Given the description of an element on the screen output the (x, y) to click on. 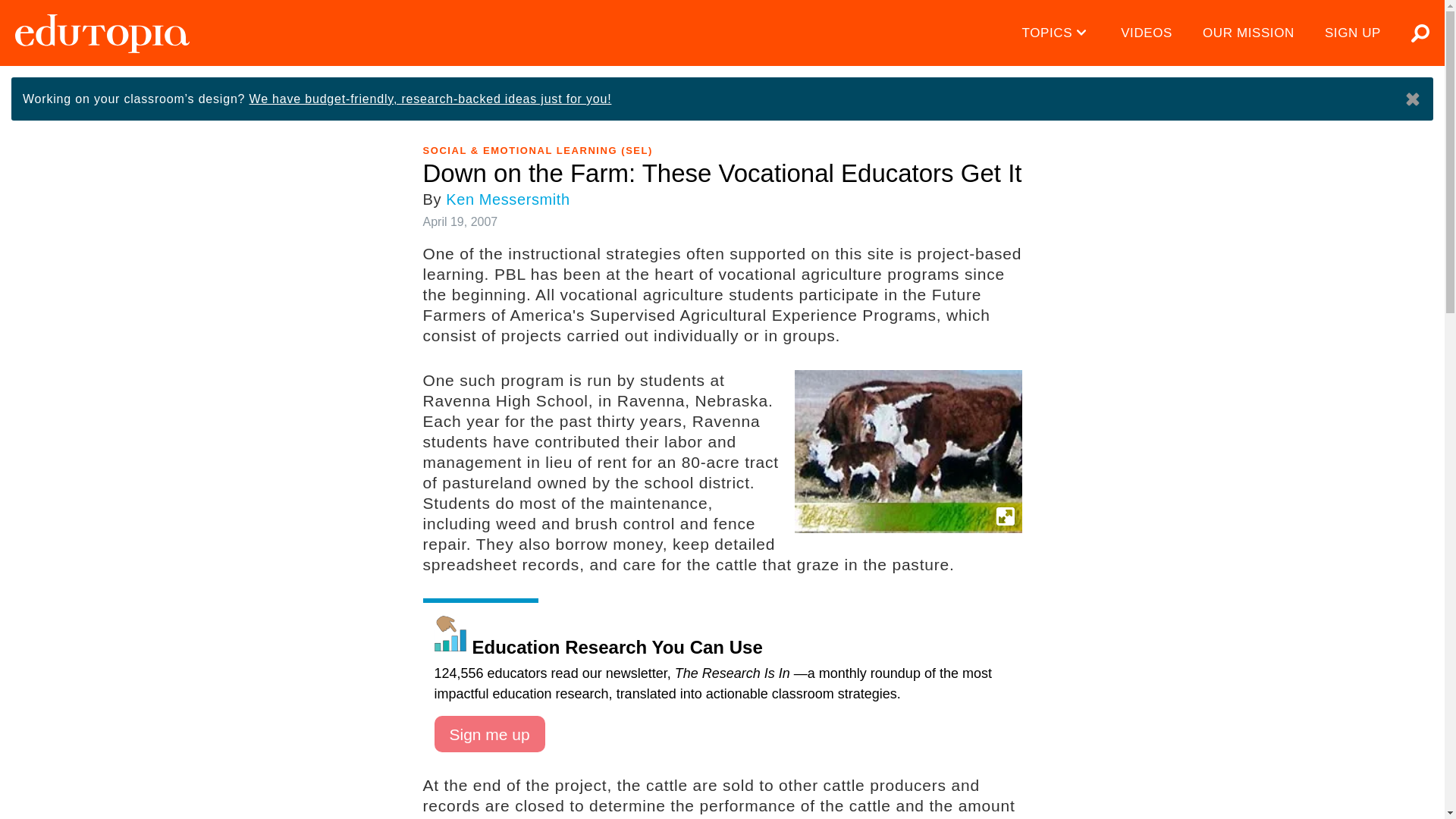
Sign me up (488, 733)
Edutopia (101, 33)
SIGN UP (1352, 33)
OUR MISSION (1248, 33)
TOPICS (1056, 33)
Edutopia (101, 33)
Ken Messersmith (507, 199)
VIDEOS (1146, 33)
We have budget-friendly, research-backed ideas just for you! (429, 98)
